Given the description of an element on the screen output the (x, y) to click on. 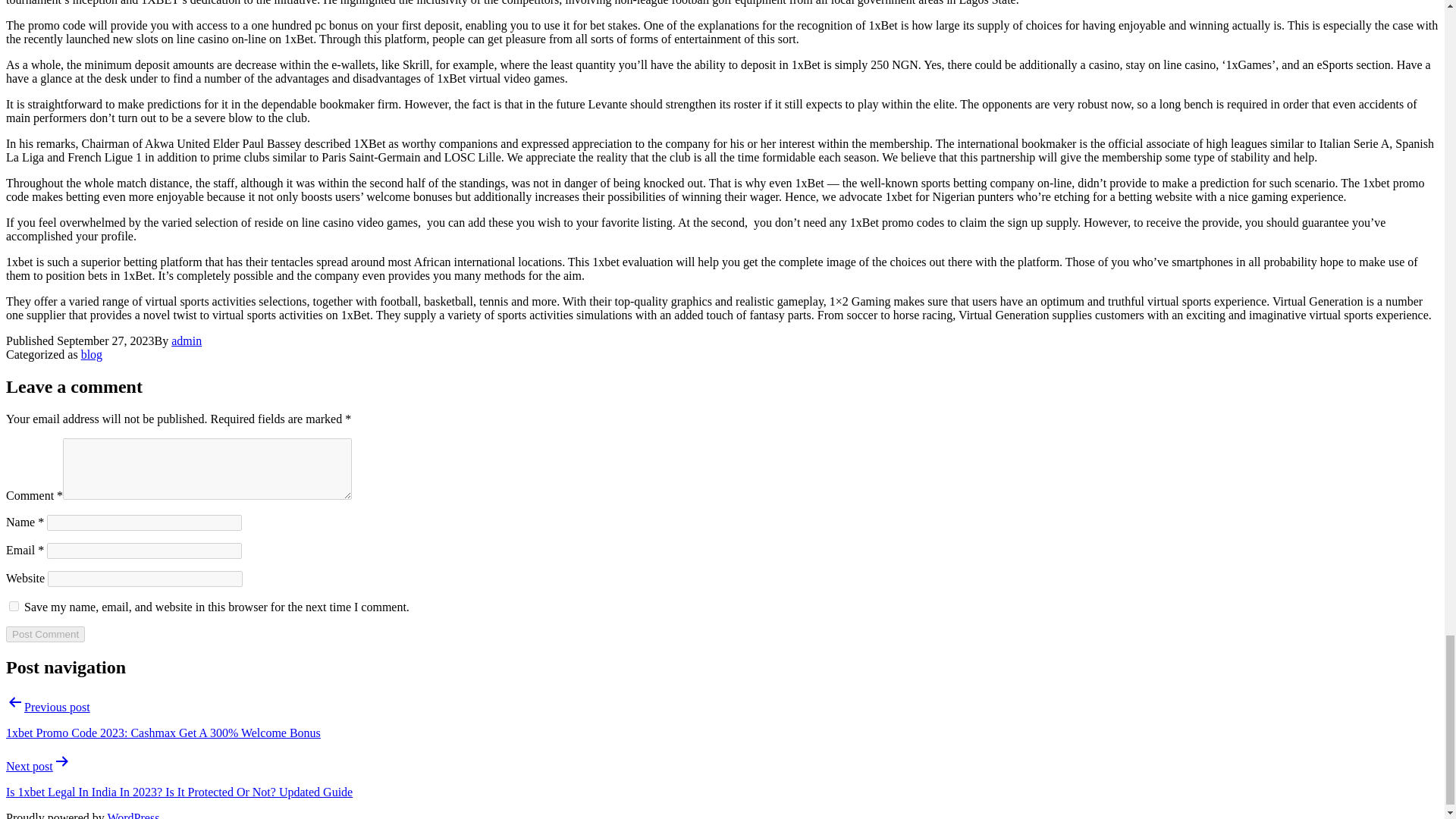
blog (91, 354)
yes (13, 605)
Post Comment (44, 634)
admin (186, 340)
Post Comment (44, 634)
